Given the description of an element on the screen output the (x, y) to click on. 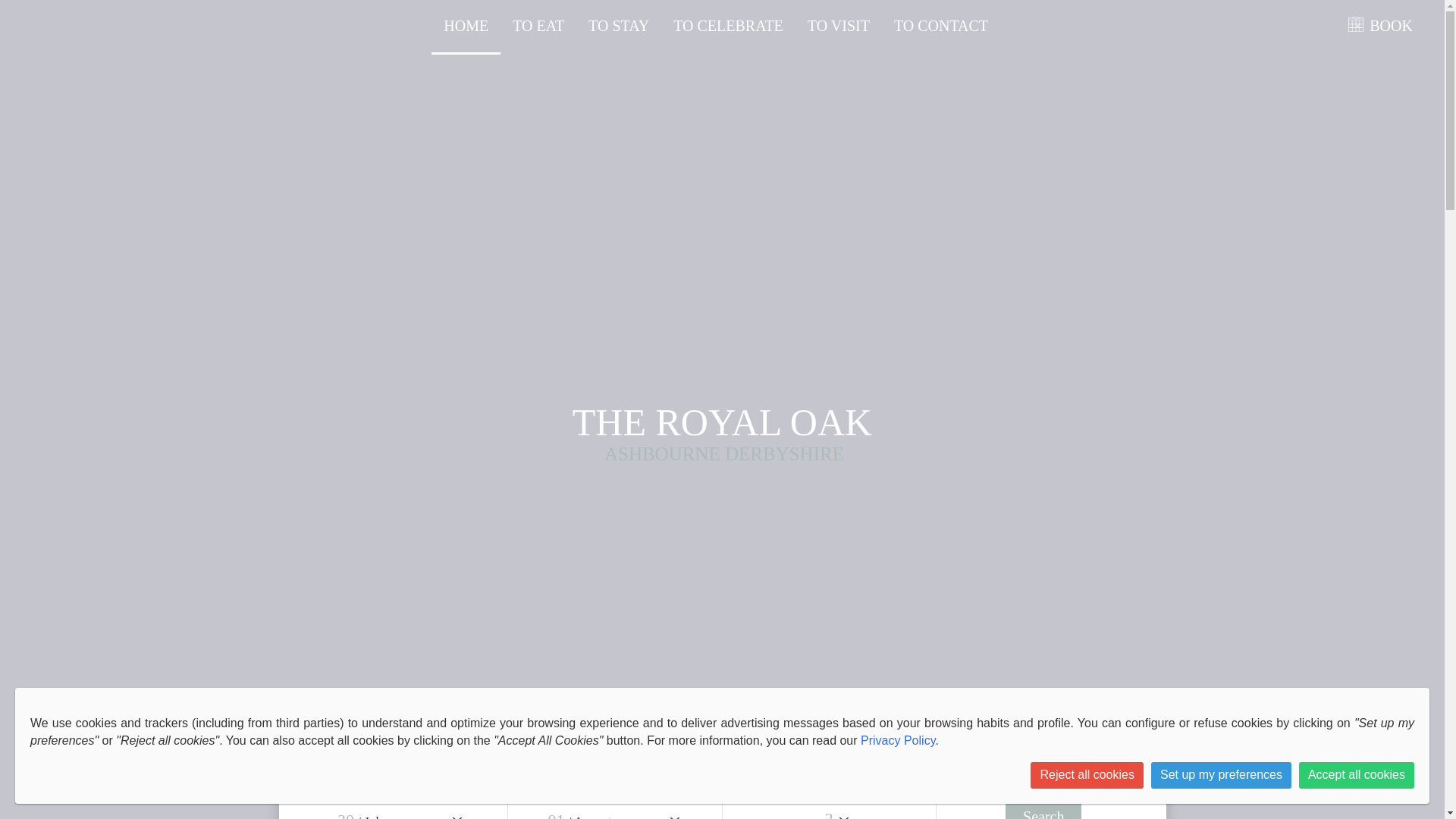
TO CELEBRATE (727, 24)
Accept all cookies (1355, 775)
TO VISIT (838, 24)
BOOK (1387, 24)
Privacy Policy (897, 739)
Set up my preferences (1221, 775)
TO CONTACT (940, 24)
TO STAY (618, 24)
Reject all cookies (1086, 775)
TO EAT (538, 24)
HOME (465, 24)
